Given the description of an element on the screen output the (x, y) to click on. 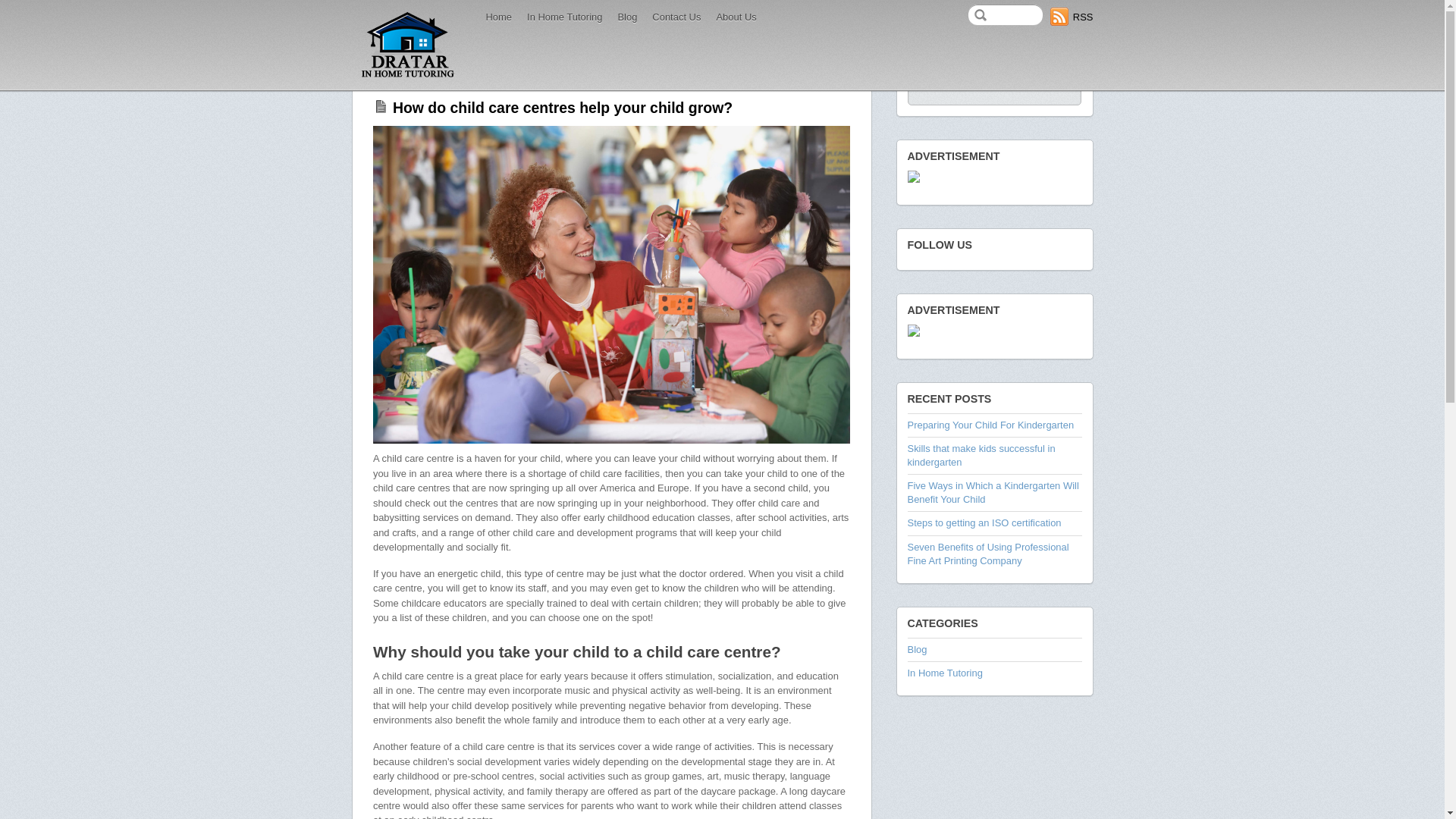
RSS Element type: text (1071, 16)
Blog Element type: text (916, 649)
Steps to getting an ISO certification Element type: text (983, 522)
Skills that make kids successful in kindergarten Element type: text (980, 454)
Preparing Your Child For Kindergarten Element type: text (989, 424)
Dratar Element type: hover (407, 44)
Search Element type: hover (993, 94)
Dratar Element type: hover (407, 76)
Five Ways in Which a Kindergarten Will Benefit Your Child Element type: text (992, 492)
In Home Tutoring Element type: text (944, 672)
Home Element type: text (498, 17)
Contact Us Element type: text (676, 17)
How do child care centres help your child grow? Element type: text (562, 107)
About Us Element type: text (735, 17)
Search Element type: hover (1005, 14)
In Home Tutoring Element type: text (564, 17)
Blog Element type: text (626, 17)
